Given the description of an element on the screen output the (x, y) to click on. 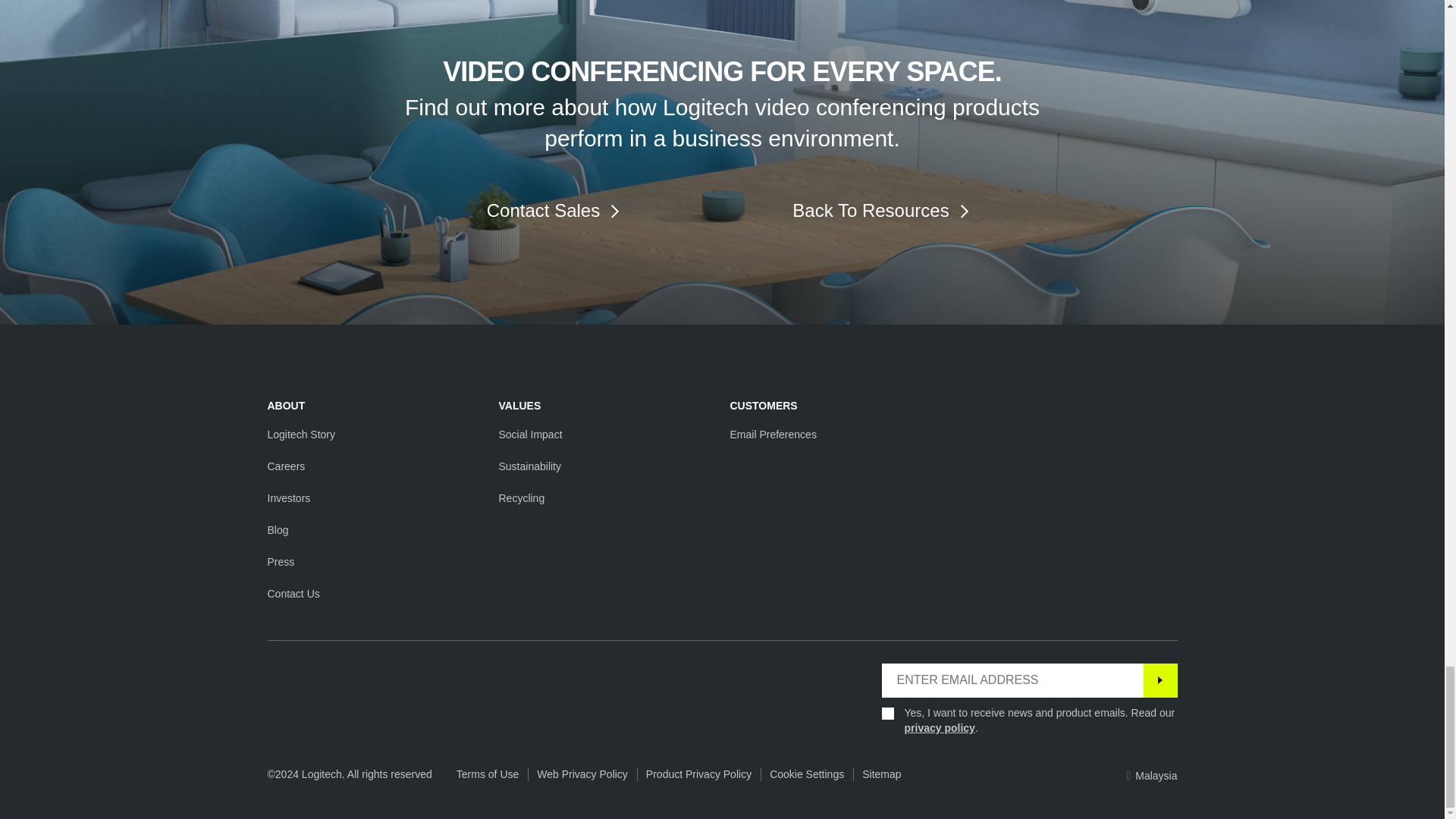
Email Preferences (772, 434)
